Given the description of an element on the screen output the (x, y) to click on. 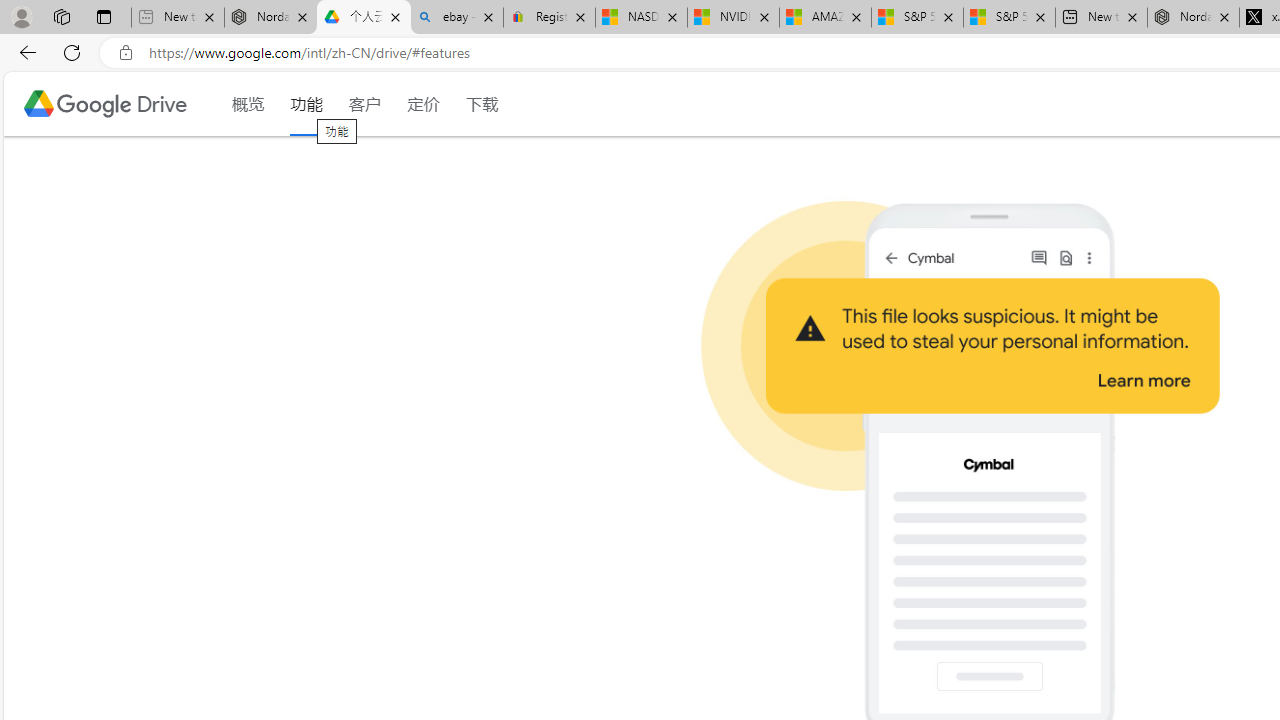
S&P 500, Nasdaq end lower, weighed by Nvidia dip | Watch (1008, 17)
